Given the description of an element on the screen output the (x, y) to click on. 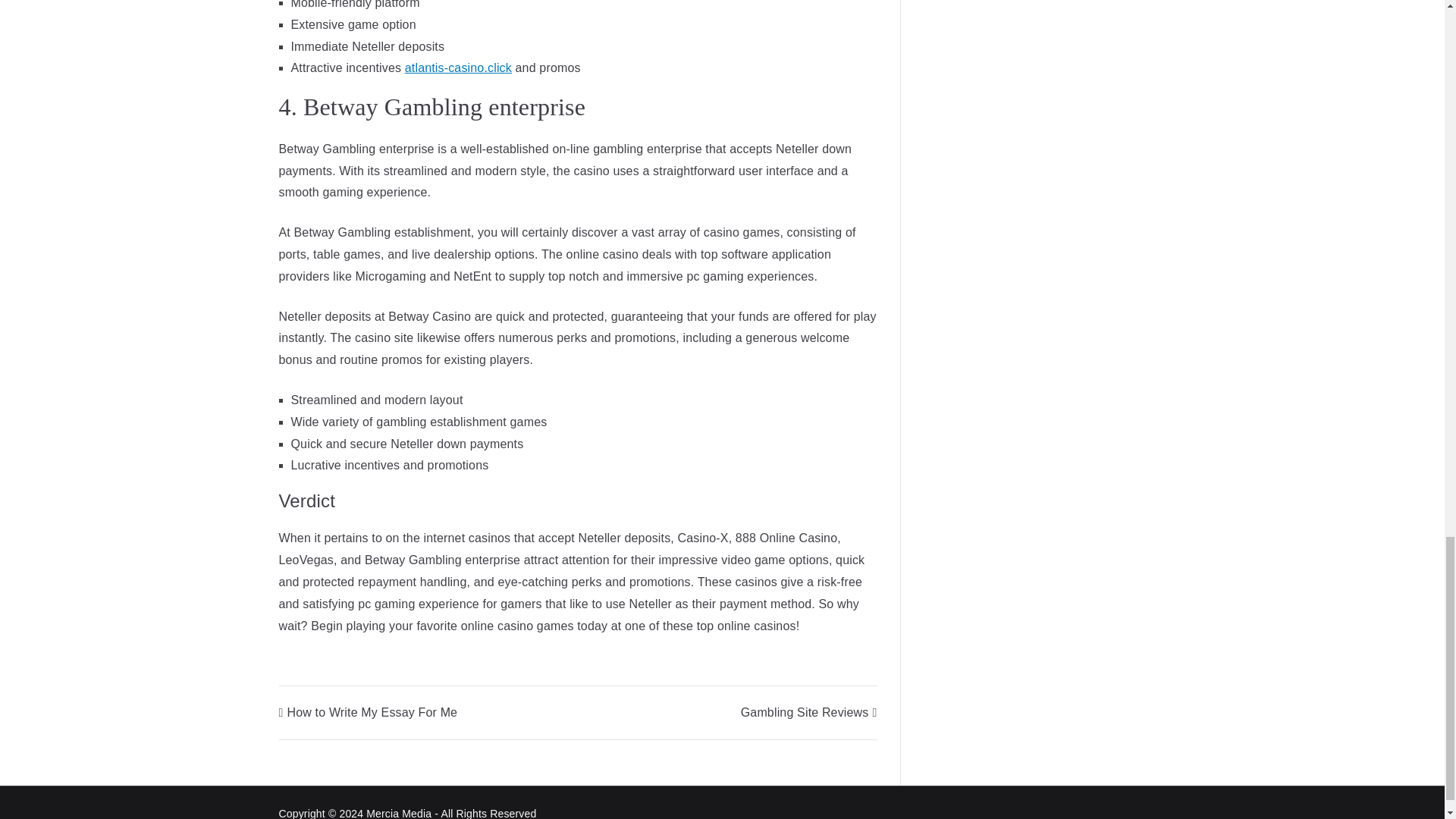
How to Write My Essay For Me (368, 712)
Gambling Site Reviews (809, 712)
atlantis-casino.click (458, 67)
Mercia Media (398, 813)
Mercia Media (398, 813)
